Given the description of an element on the screen output the (x, y) to click on. 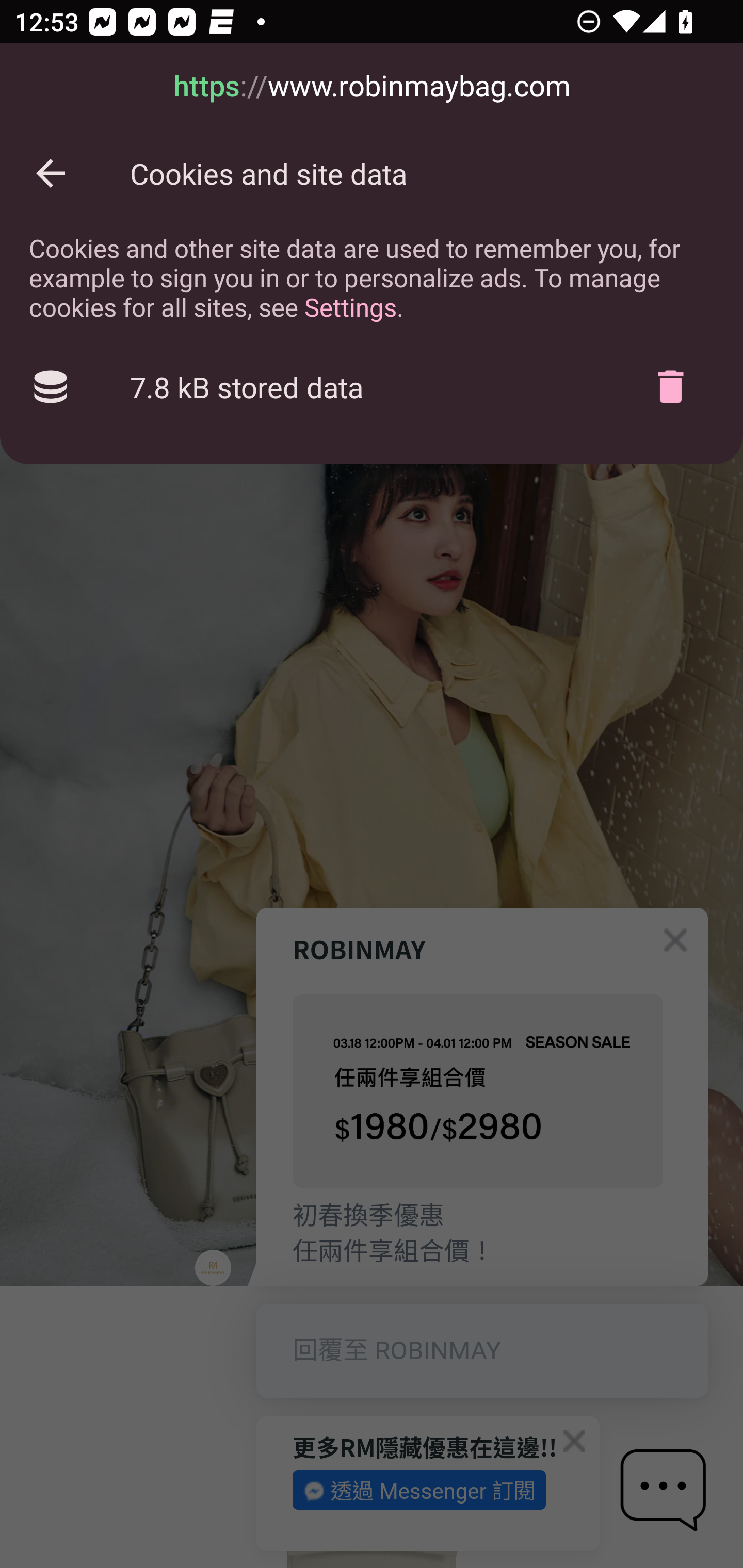
https://www.robinmaybag.com (371, 86)
Back (50, 173)
7.8 kB stored data Delete cookies? (371, 386)
